Given the description of an element on the screen output the (x, y) to click on. 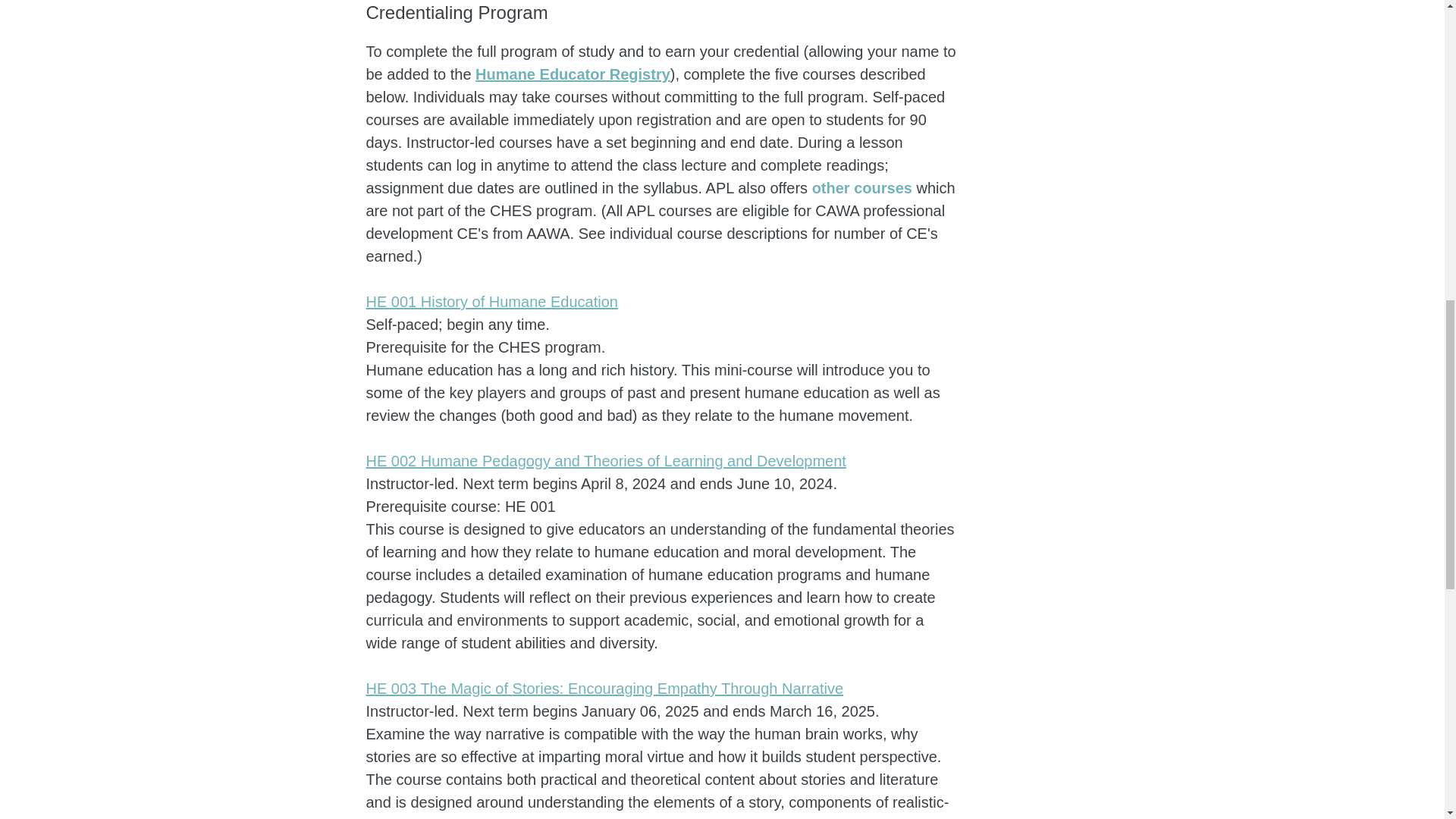
HE 001 History of Humane Education (491, 301)
Humane Educator Registry (572, 74)
other courses (864, 187)
